Given the description of an element on the screen output the (x, y) to click on. 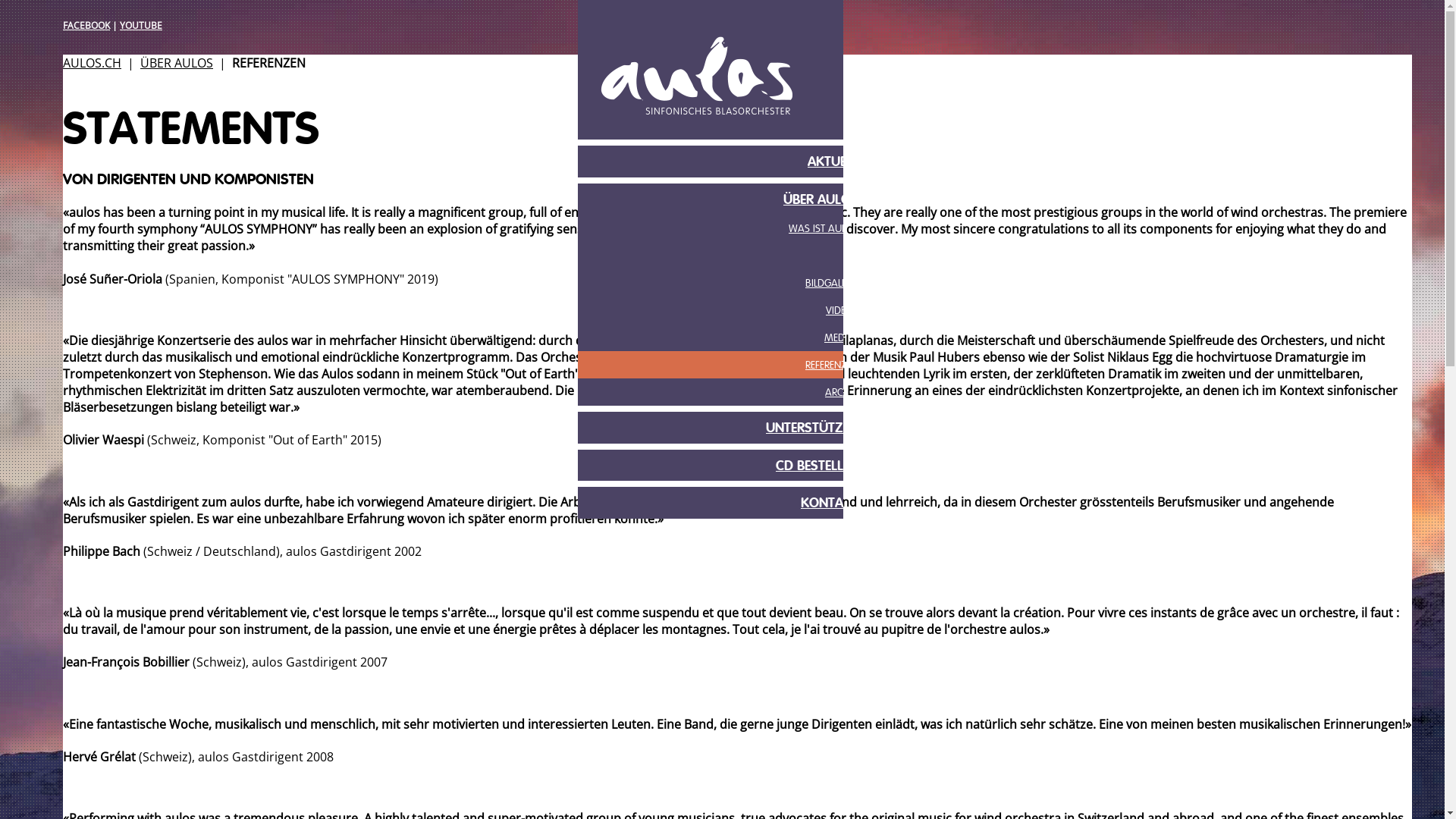
VIDEOS Element type: text (725, 310)
CD BESTELLEN Element type: text (725, 465)
WAS IST AULOS Element type: text (725, 228)
BILDGALERIE Element type: text (725, 283)
OK Element type: text (725, 255)
REFERENZEN Element type: text (725, 365)
KONTAKT Element type: text (725, 502)
AKTUELL Element type: text (725, 161)
ARCHIV Element type: text (725, 392)
AULOS.CH Element type: text (91, 62)
FACEBOOK Element type: text (85, 24)
YOUTUBE Element type: text (140, 24)
MEDIEN Element type: text (725, 337)
